Given the description of an element on the screen output the (x, y) to click on. 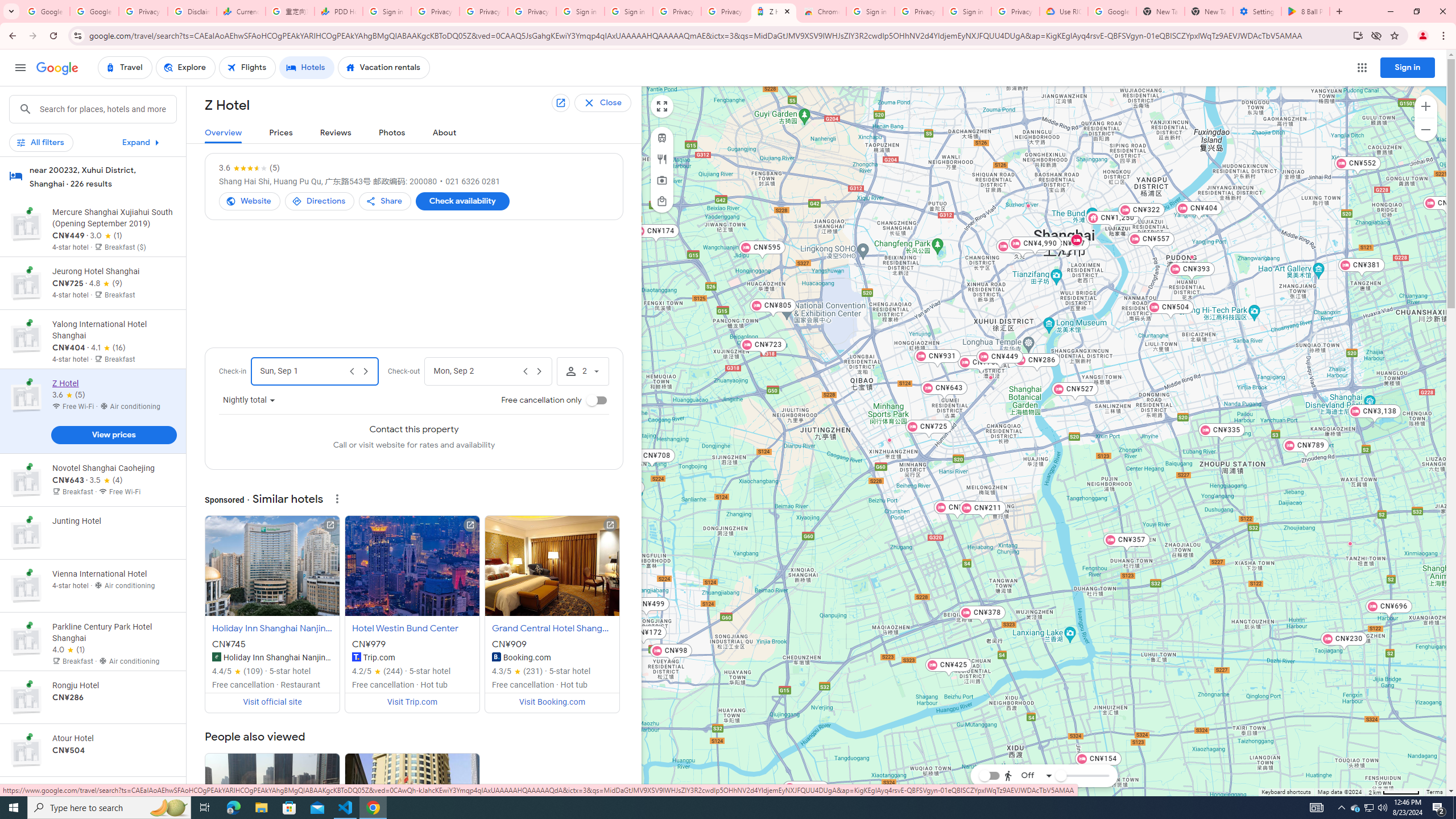
Explore (185, 67)
Toggle reachability layer (988, 775)
View prices for Atour Hotel (113, 789)
3.6 out of 5 stars from 5 reviews (249, 167)
Settings - System (1257, 11)
3 out of 5 stars from 1 reviews (106, 235)
Check-out (475, 370)
4.8 out of 5 stars from 9 reviews (105, 283)
New Tab (1208, 11)
